Given the description of an element on the screen output the (x, y) to click on. 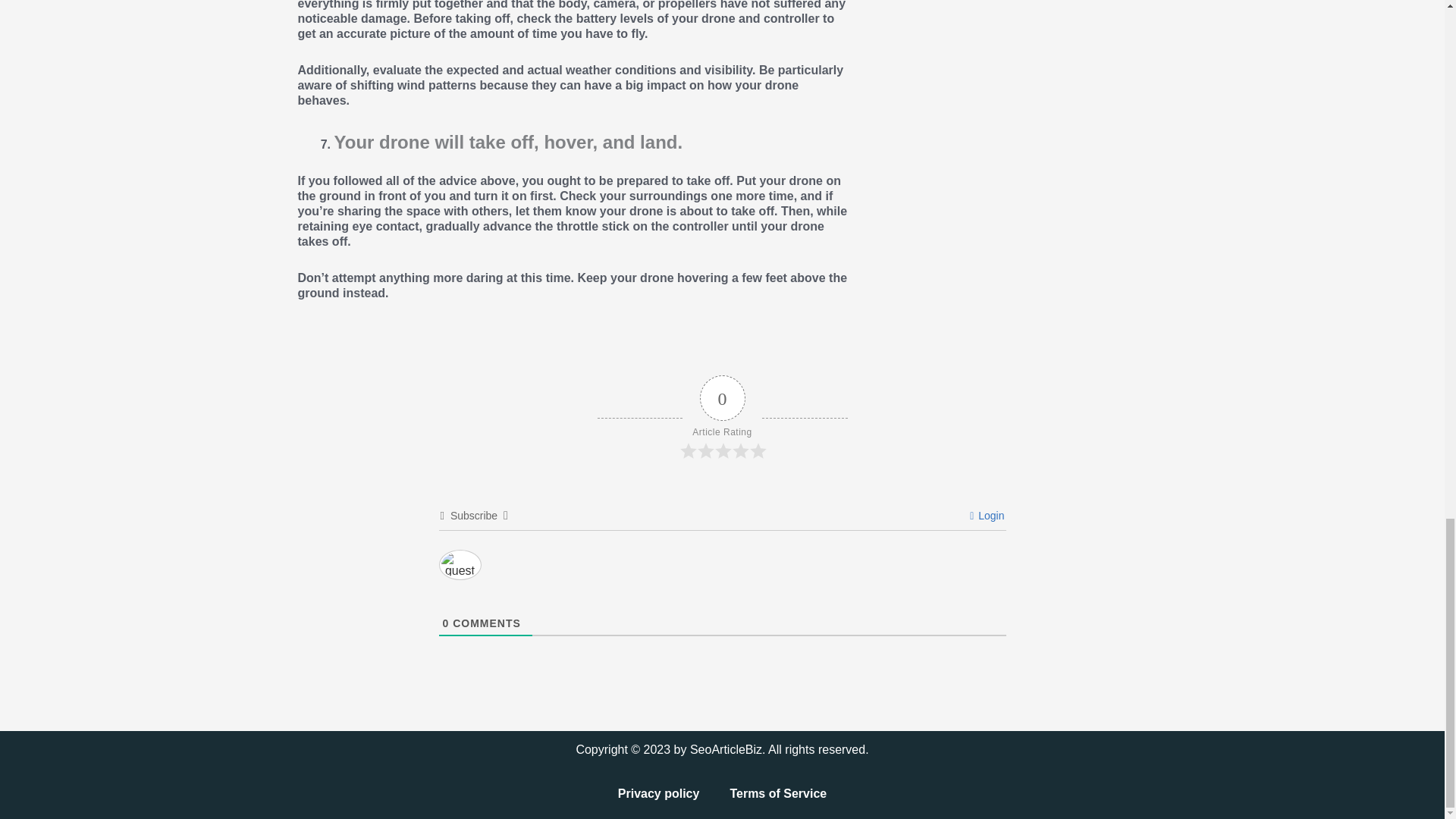
Login (986, 515)
